Given the description of an element on the screen output the (x, y) to click on. 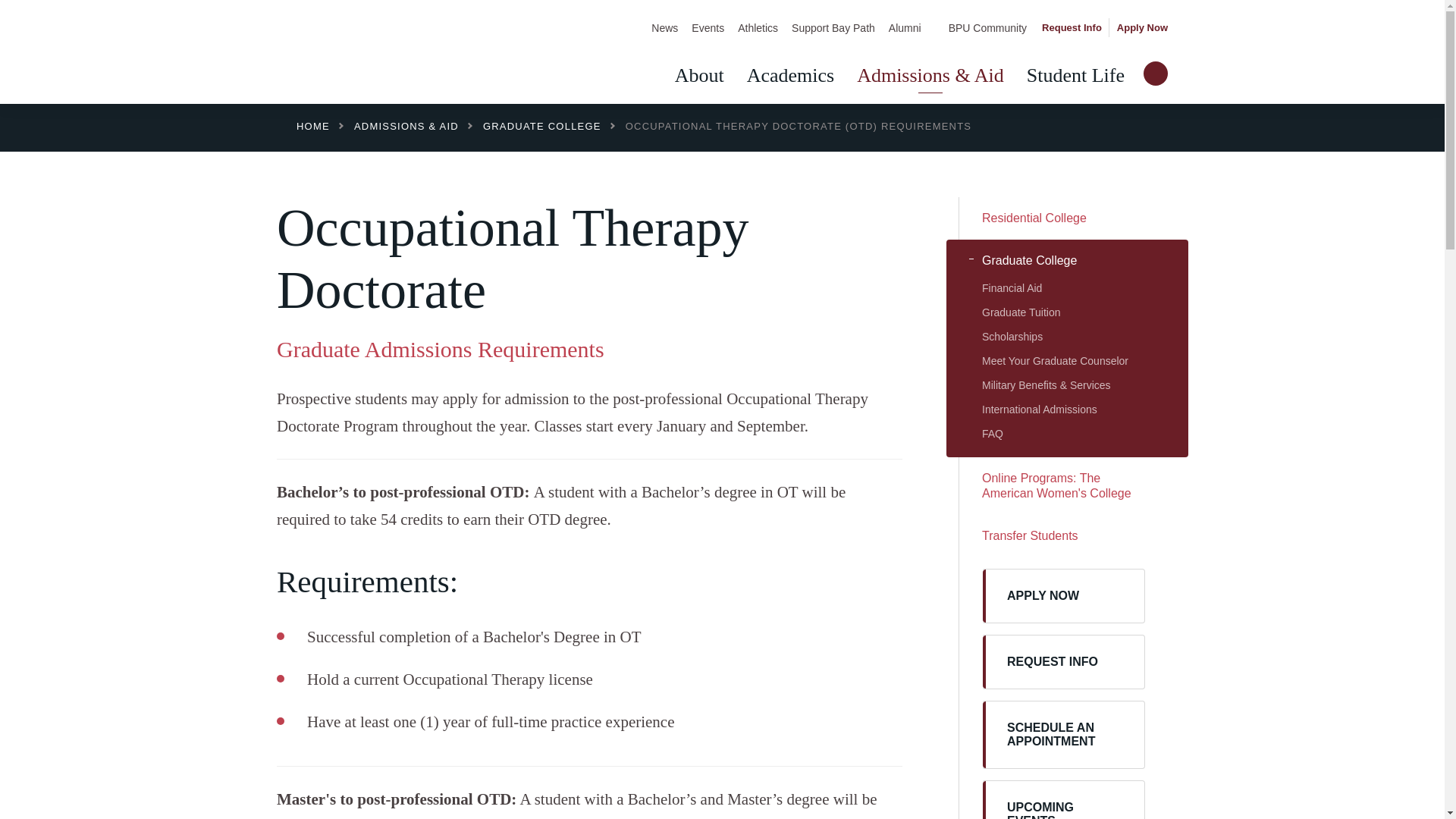
Athletics (757, 28)
News (664, 28)
Alumni (905, 28)
Bay Path University (405, 53)
Academics (790, 75)
Events (707, 28)
BPU Community (977, 28)
Apply Now (1141, 28)
About (699, 75)
Request Info (1072, 28)
